Given the description of an element on the screen output the (x, y) to click on. 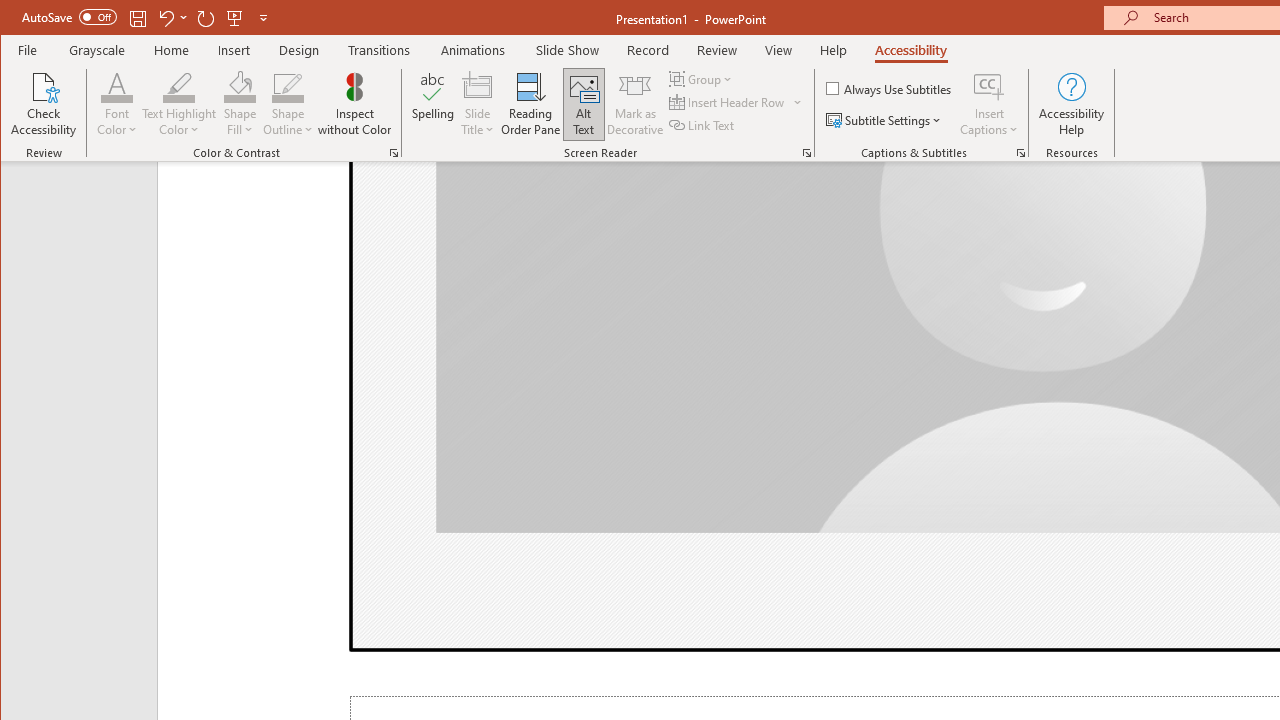
Link Text (703, 124)
